Given the description of an element on the screen output the (x, y) to click on. 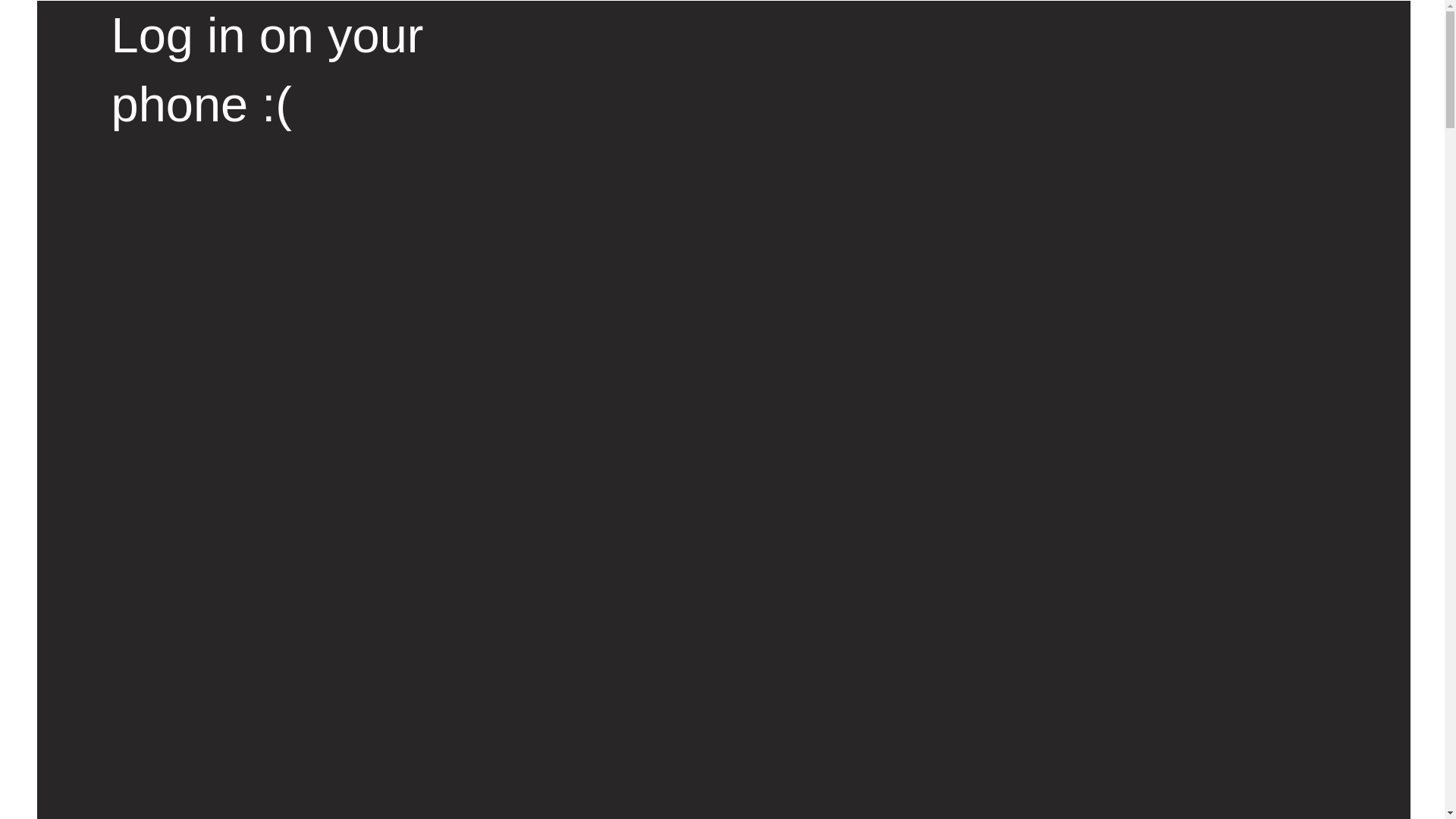
Jun 23, 2023 (517, 357)
Jun 22, 2023 (574, 270)
WELCOME (748, 62)
0 (1080, 53)
0 (1080, 53)
Coach P (485, 271)
Log In (1048, 72)
2 min read (643, 270)
0 (581, 73)
On The Rise... (571, 167)
Artist (495, 167)
roc fm.png (413, 58)
Coach P (490, 270)
